Given the description of an element on the screen output the (x, y) to click on. 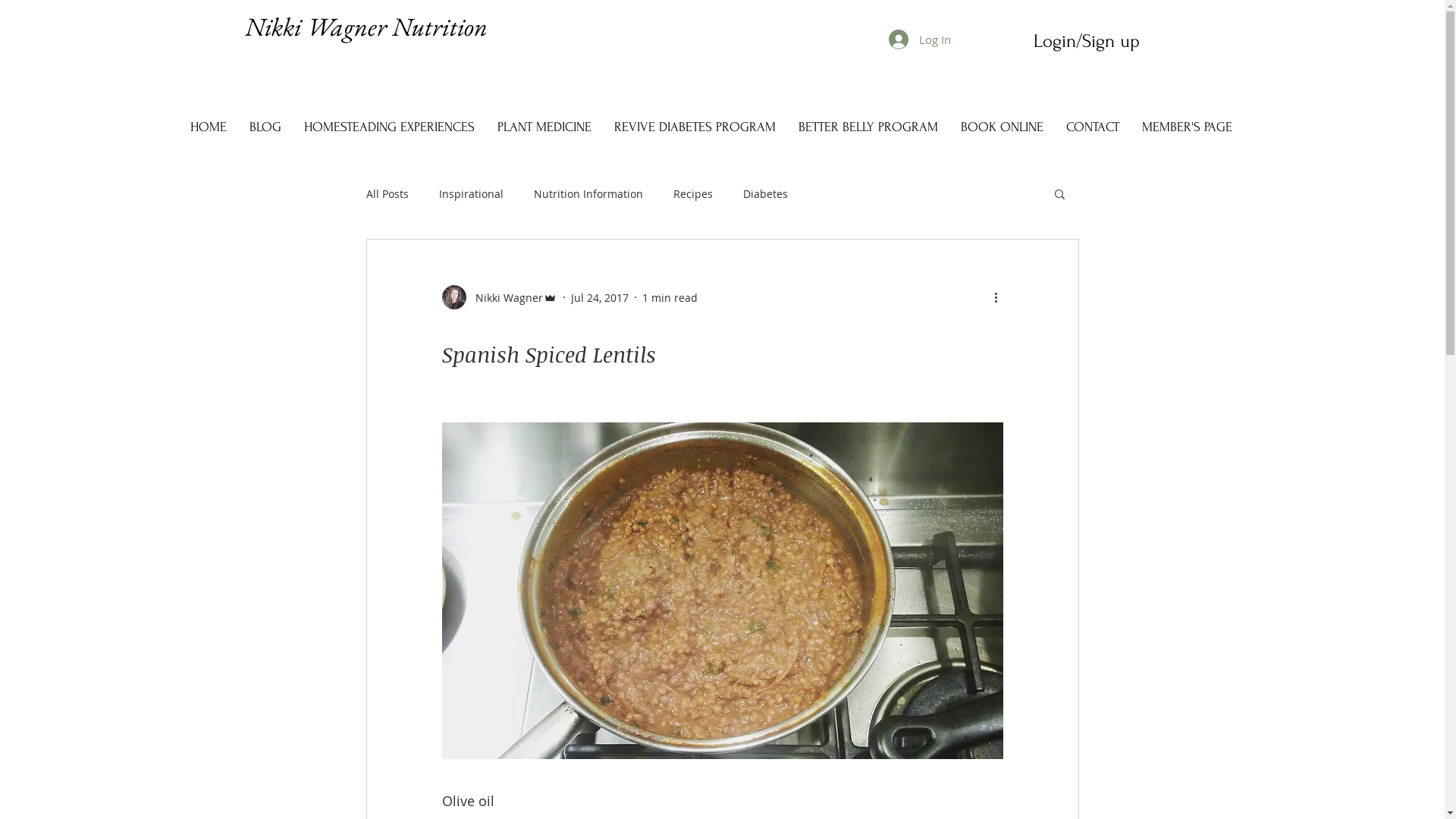
MEMBER'S PAGE Element type: text (1185, 126)
Inspirational Element type: text (470, 193)
CONTACT Element type: text (1091, 126)
Login/Sign up Element type: text (1086, 40)
Nikki Wagner Element type: text (498, 297)
All Posts Element type: text (386, 193)
Recipes Element type: text (692, 193)
HOMESTEADING EXPERIENCES Element type: text (389, 126)
Diabetes Element type: text (765, 193)
Log In Element type: text (919, 39)
REVIVE DIABETES PROGRAM Element type: text (694, 126)
BETTER BELLY PROGRAM Element type: text (868, 126)
BLOG Element type: text (265, 126)
Nutrition Information Element type: text (588, 193)
HOME Element type: text (208, 126)
BOOK ONLINE Element type: text (1001, 126)
PLANT MEDICINE Element type: text (543, 126)
